Given the description of an element on the screen output the (x, y) to click on. 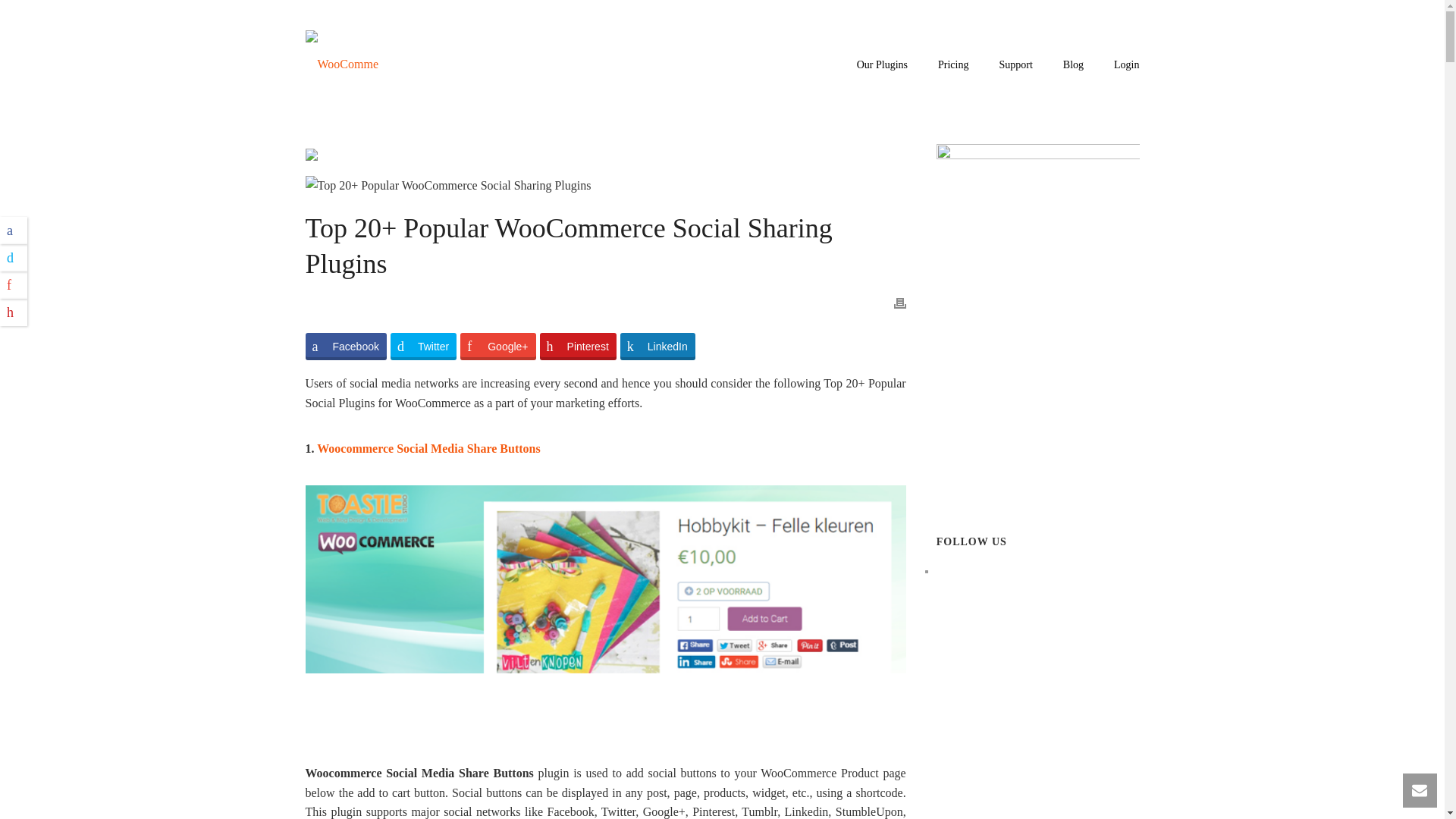
Pricing (953, 65)
Login (1126, 65)
Support (1015, 65)
Pinterest (577, 346)
Our Plugins (882, 65)
Blog (1073, 65)
Our Plugins (882, 65)
Pricing (953, 65)
Blog (1073, 65)
WooCommerce Resource Site (342, 64)
Support (1015, 65)
Twitter (423, 346)
Login (1126, 65)
Facebook (344, 346)
